Given the description of an element on the screen output the (x, y) to click on. 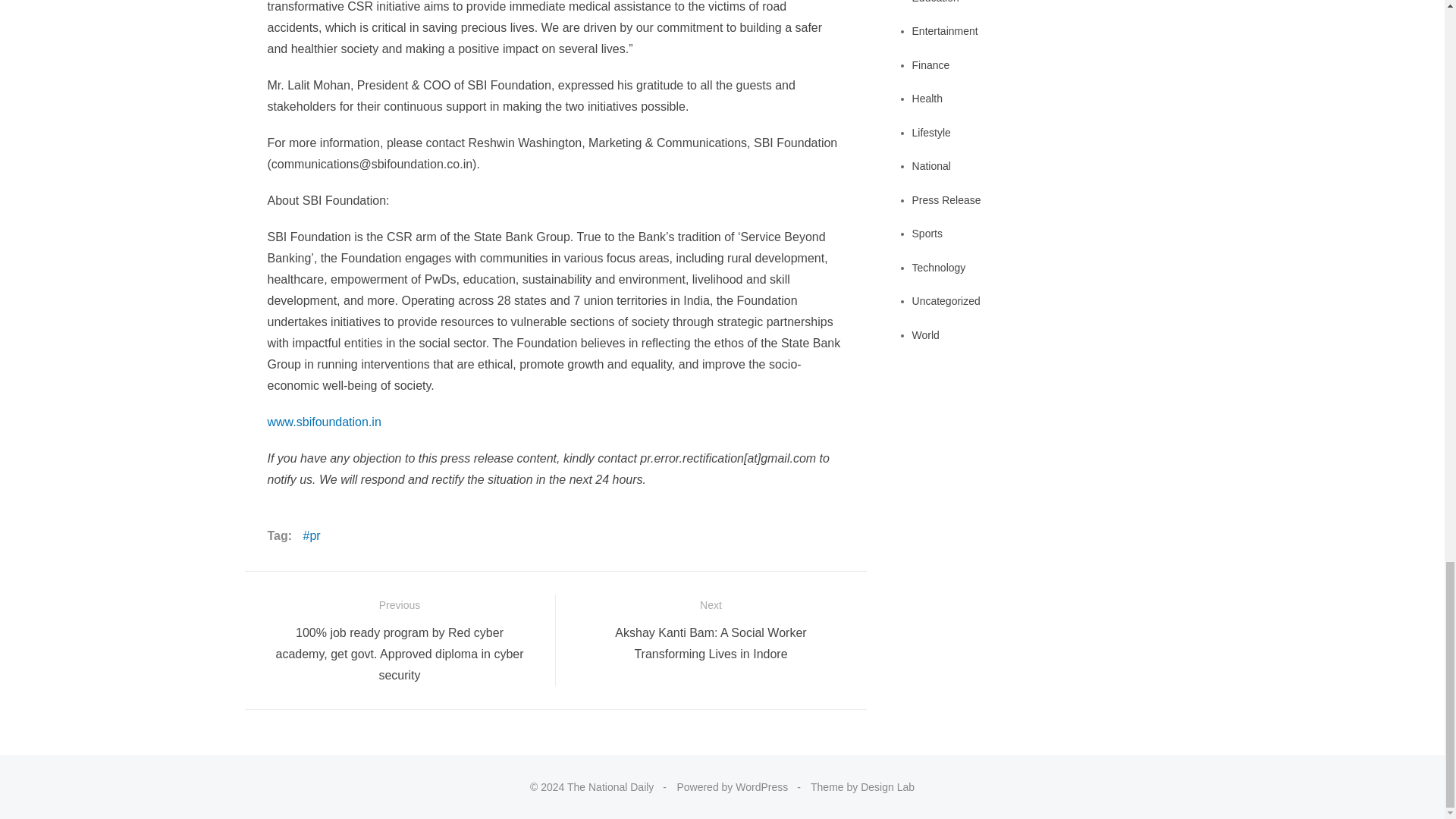
www.sbifoundation.in (323, 421)
pr (311, 536)
